Given the description of an element on the screen output the (x, y) to click on. 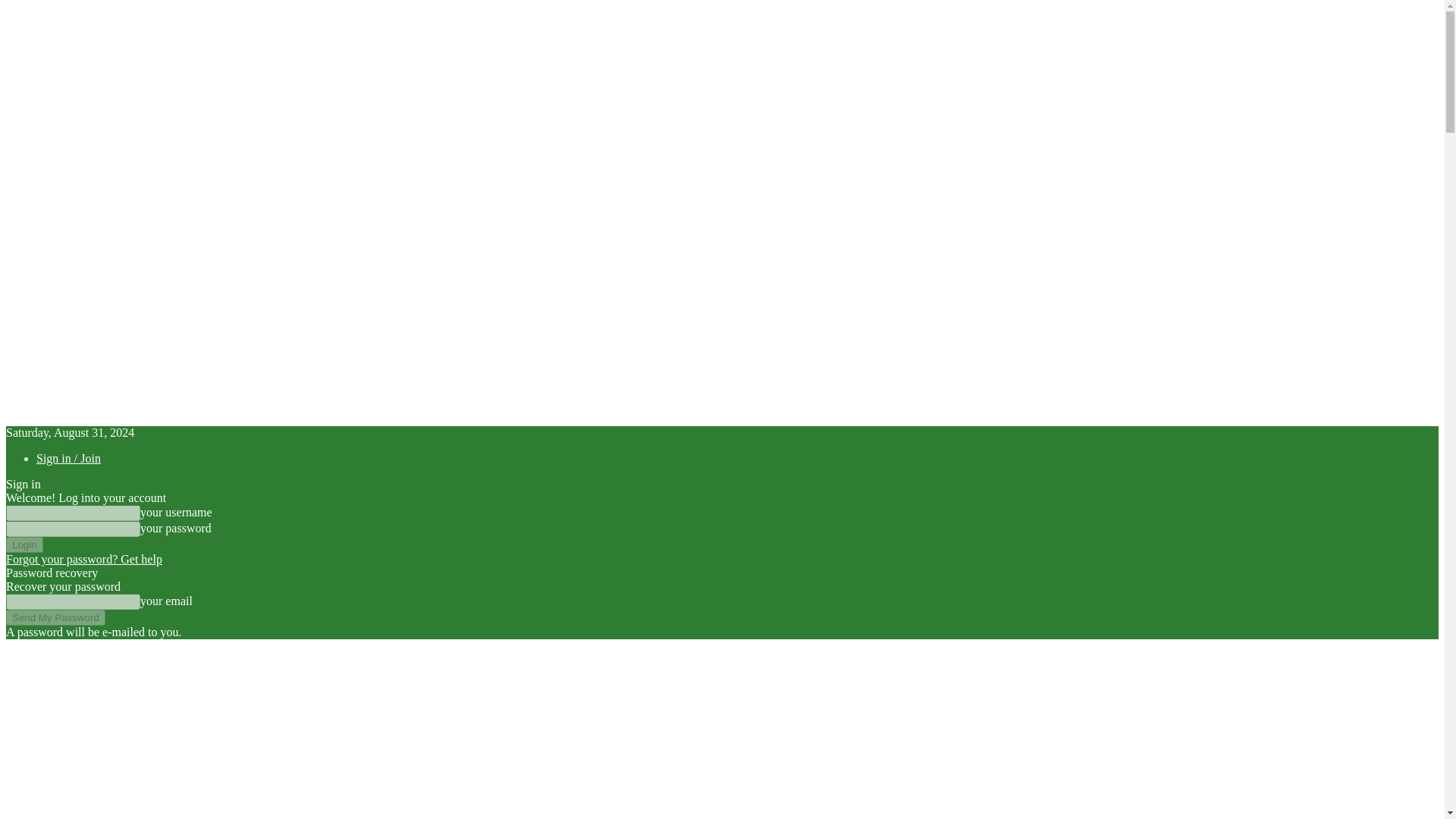
Forgot your password? Get help (83, 558)
Login (24, 544)
Send My Password (54, 617)
